Given the description of an element on the screen output the (x, y) to click on. 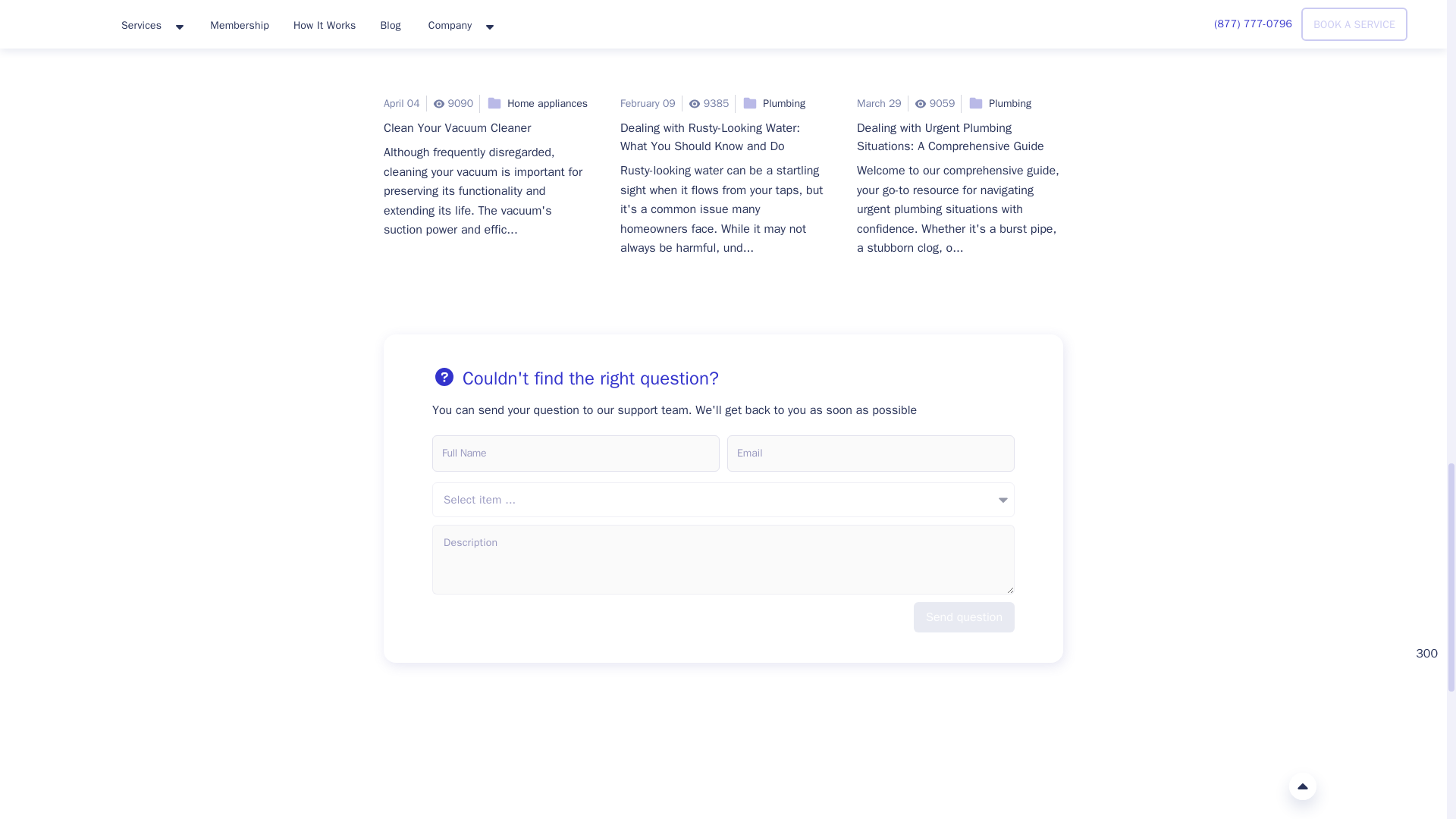
HomeAlliance (146, 785)
Send question (964, 616)
Blog (723, 44)
Select item ... (723, 499)
Blog (959, 44)
Blog (486, 44)
